Given the description of an element on the screen output the (x, y) to click on. 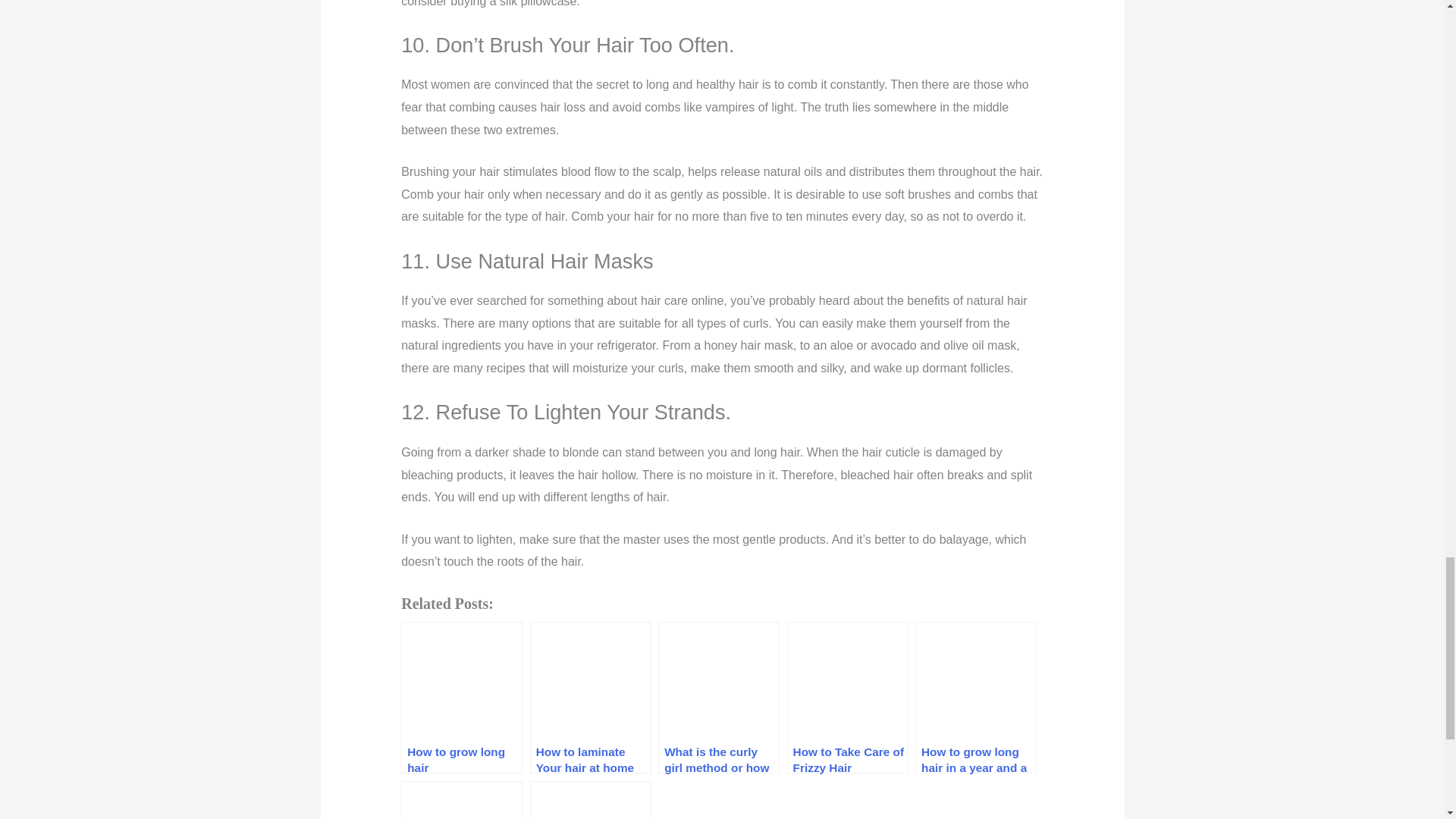
Liquid Amino Acids Results On Natural Hair (589, 800)
Liquid Amino Acids Results On Natural Hair (589, 800)
Hot Rules: Summer Hair Care (461, 800)
Hot Rules: Summer Hair Care (461, 800)
